Given the description of an element on the screen output the (x, y) to click on. 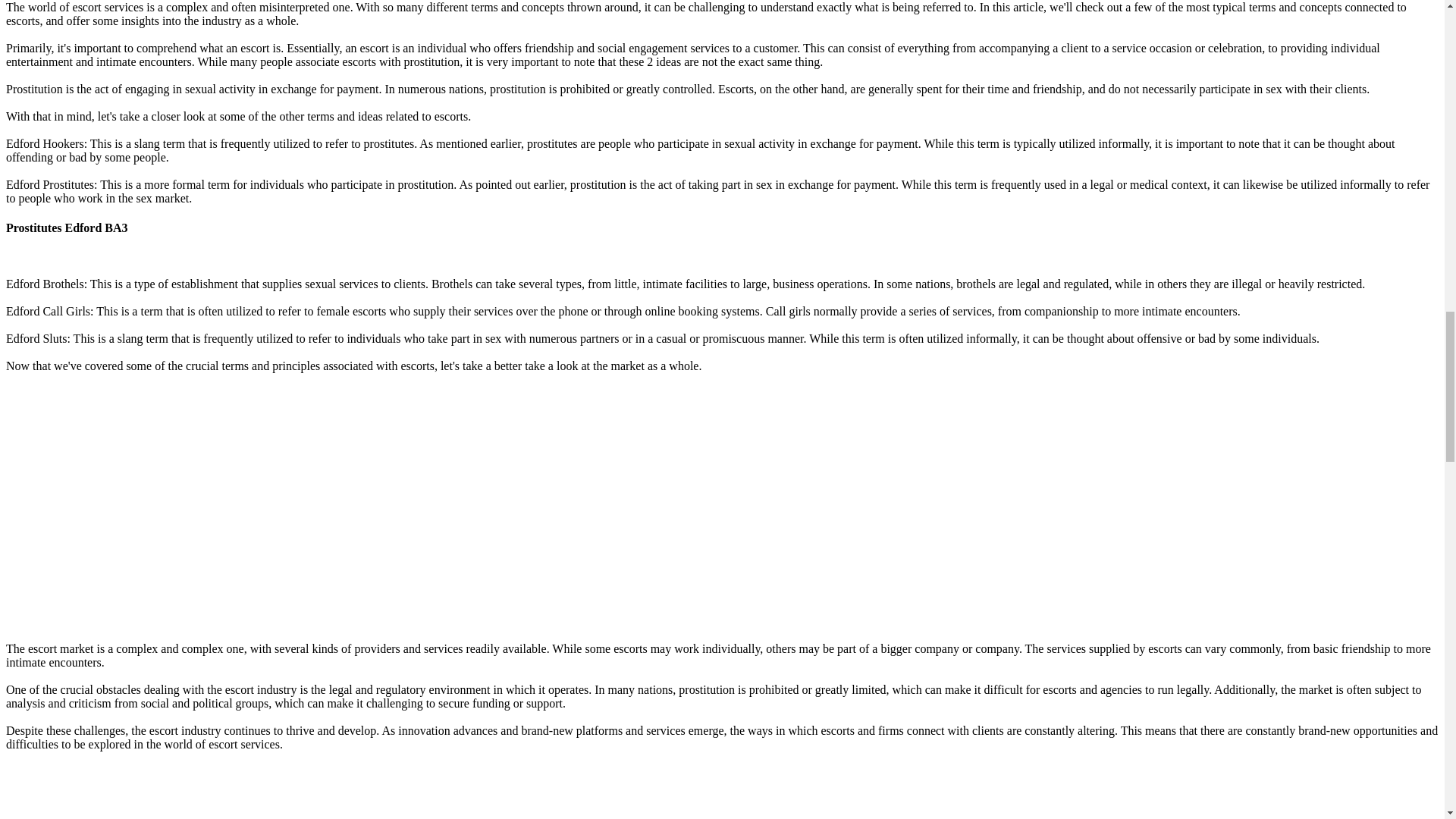
YouTube video player (217, 791)
YouTube video player (217, 505)
